Given the description of an element on the screen output the (x, y) to click on. 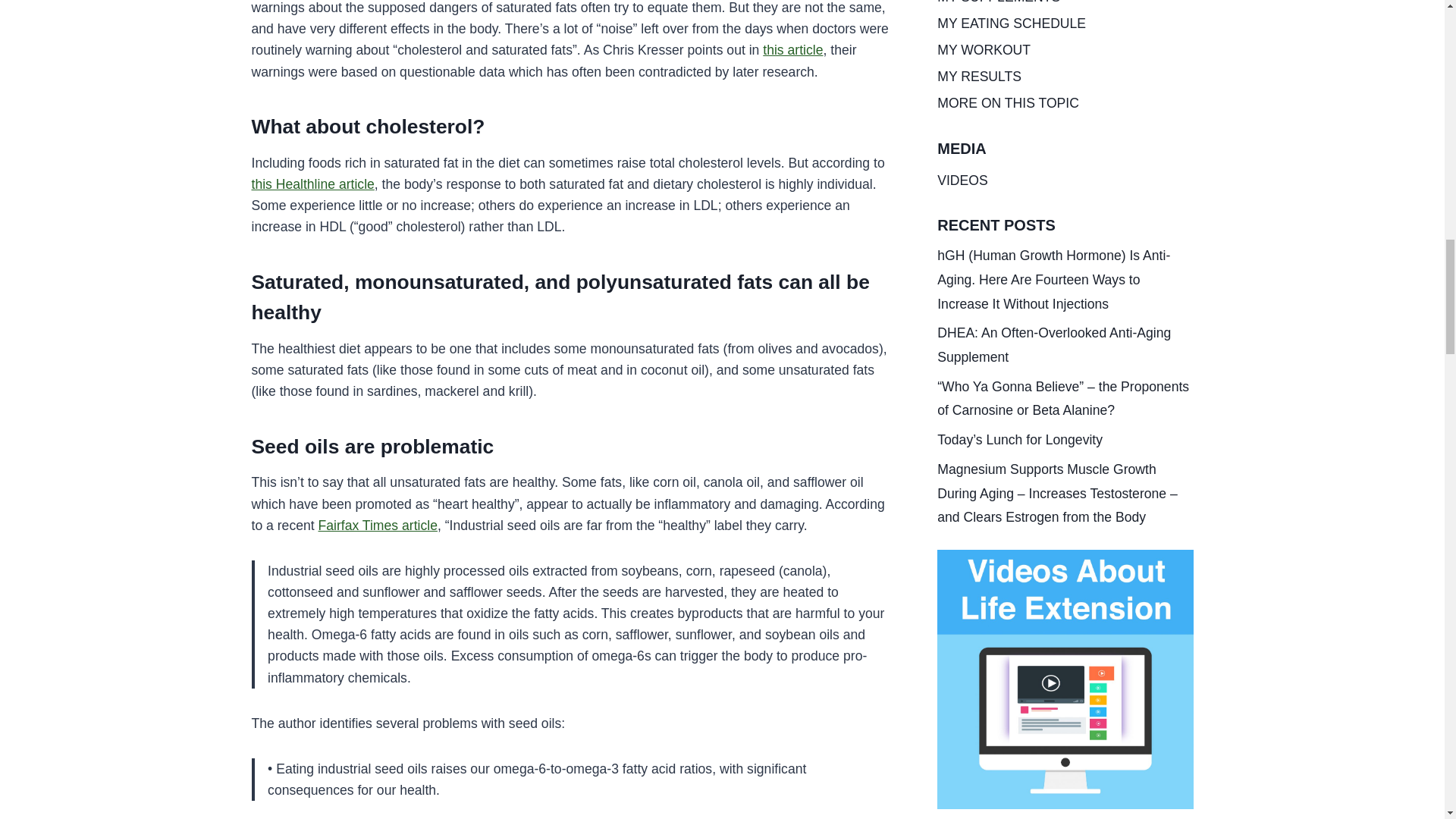
Fairfax Times article (378, 525)
this Healthline article (312, 183)
this article (792, 49)
